Given the description of an element on the screen output the (x, y) to click on. 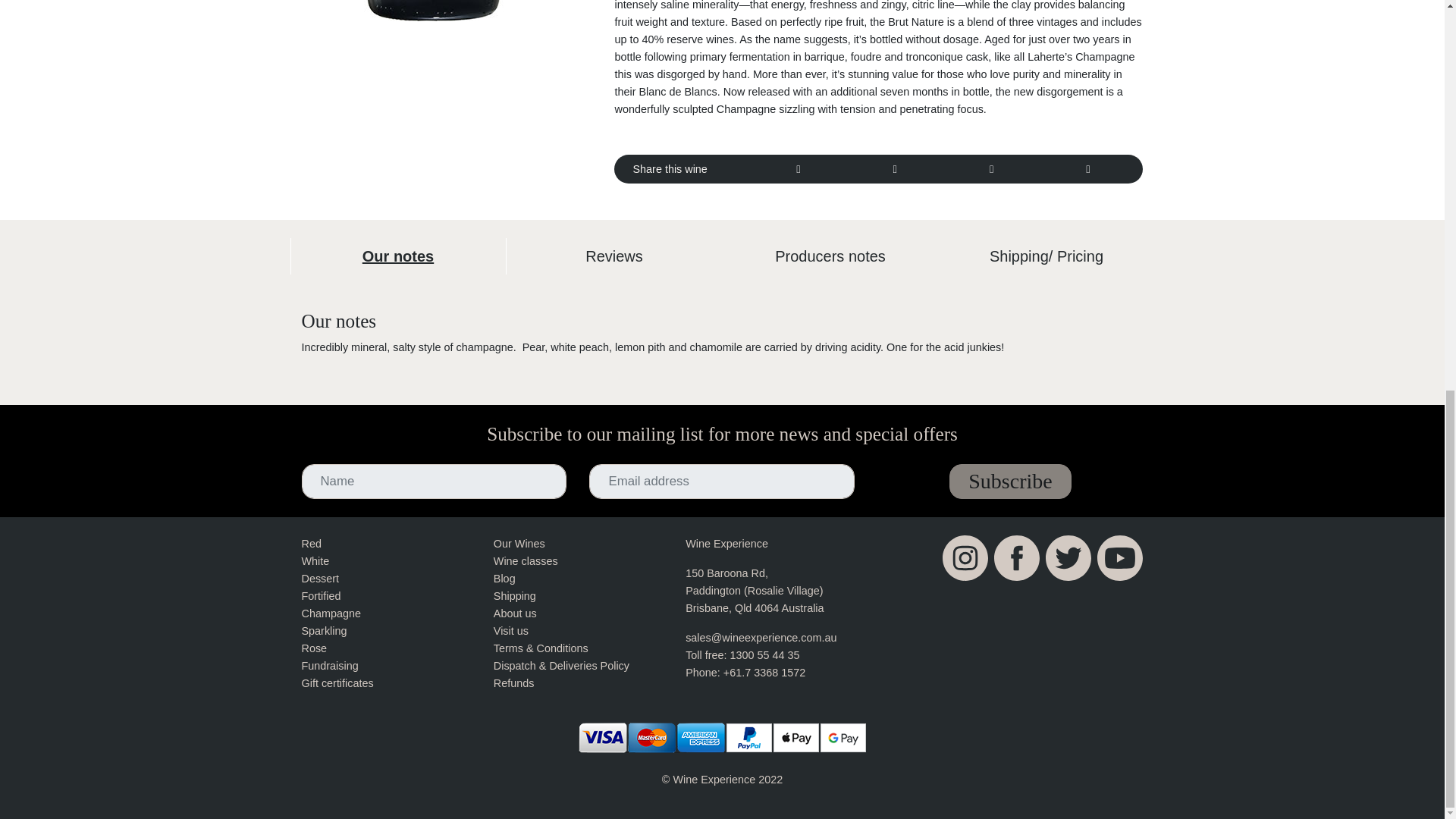
Subscribe (1009, 480)
Payment Options (722, 737)
